Given the description of an element on the screen output the (x, y) to click on. 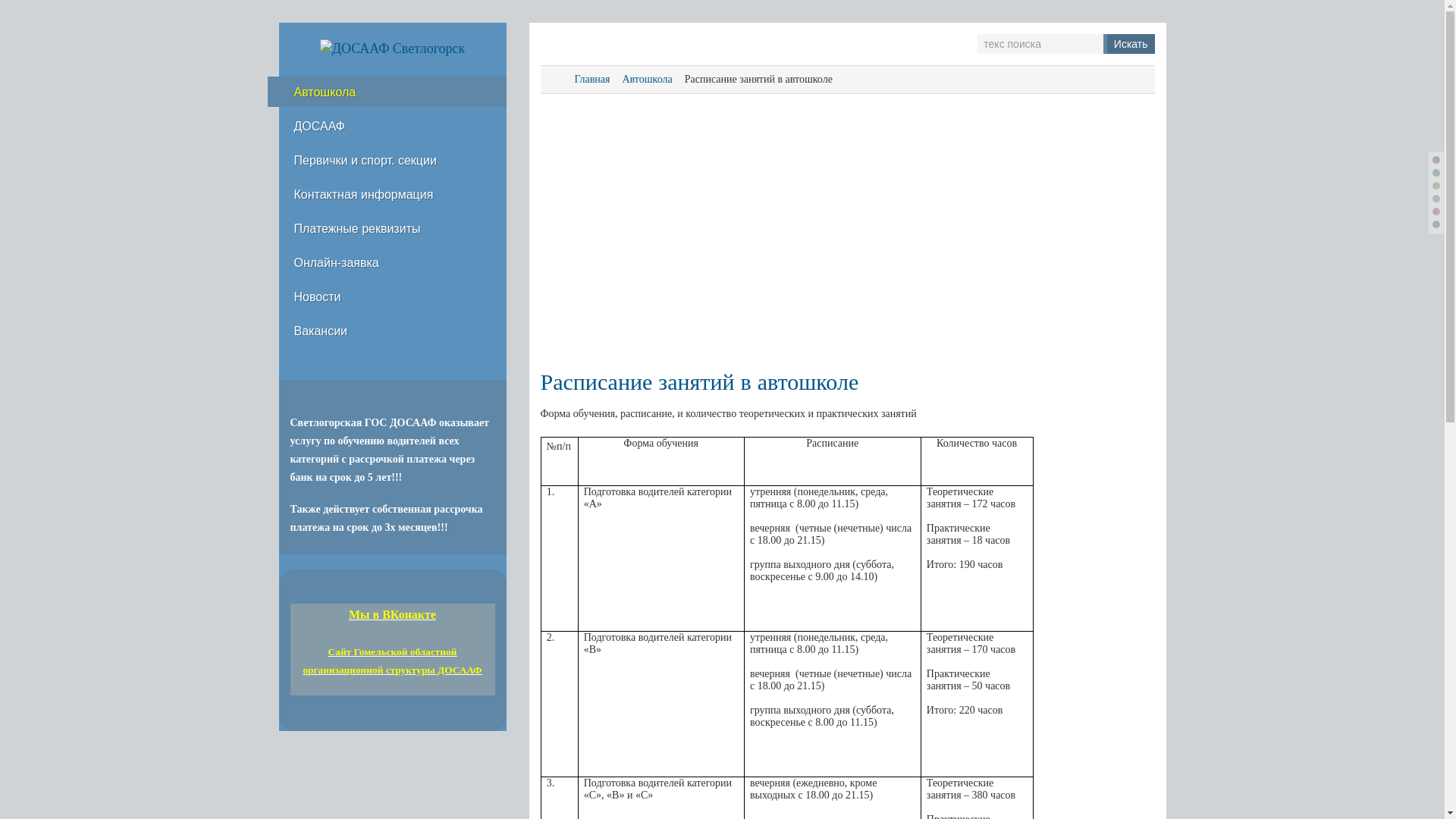
Scroll Element type: text (1406, 780)
